Given the description of an element on the screen output the (x, y) to click on. 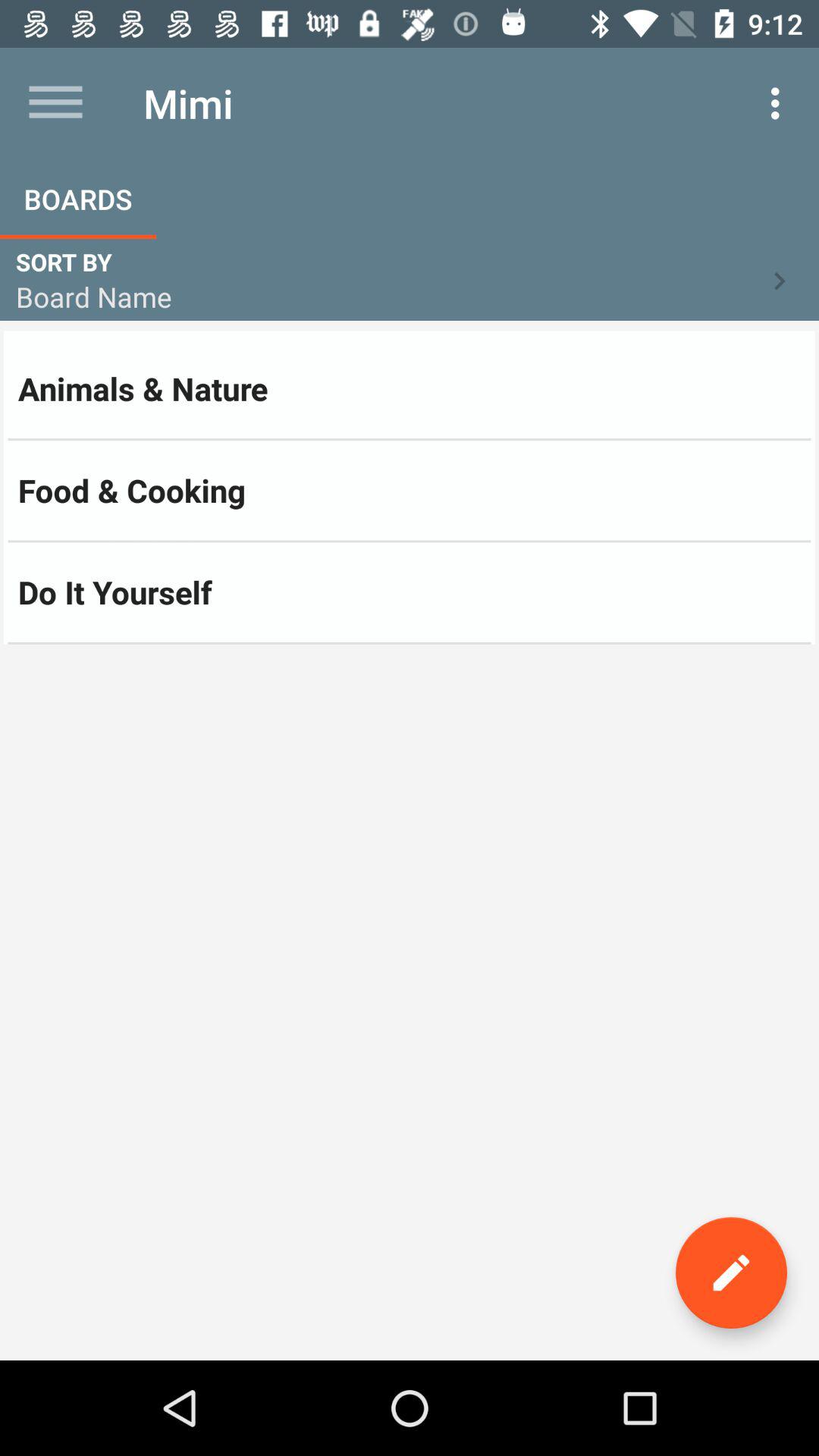
expand the menu (55, 103)
